Given the description of an element on the screen output the (x, y) to click on. 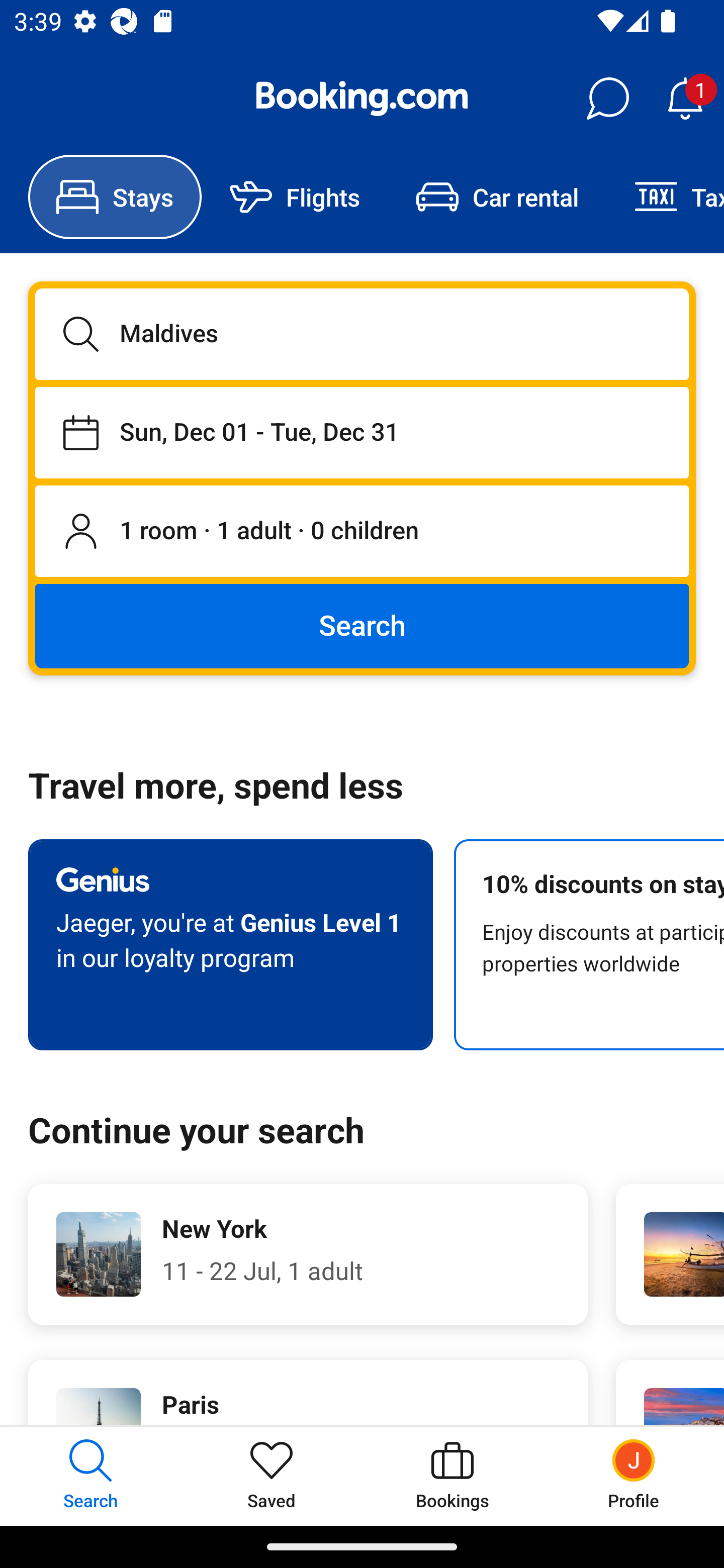
Messages (607, 98)
Notifications (685, 98)
Stays (114, 197)
Flights (294, 197)
Car rental (497, 197)
Taxi (665, 197)
Maldives (361, 333)
Staying from Sun, Dec 01 until Tue, Dec 31 (361, 432)
1 room, 1 adult, 0 children (361, 531)
Search (361, 625)
New York 11 - 22 Jul, 1 adult (307, 1253)
Saved (271, 1475)
Bookings (452, 1475)
Profile (633, 1475)
